Given the description of an element on the screen output the (x, y) to click on. 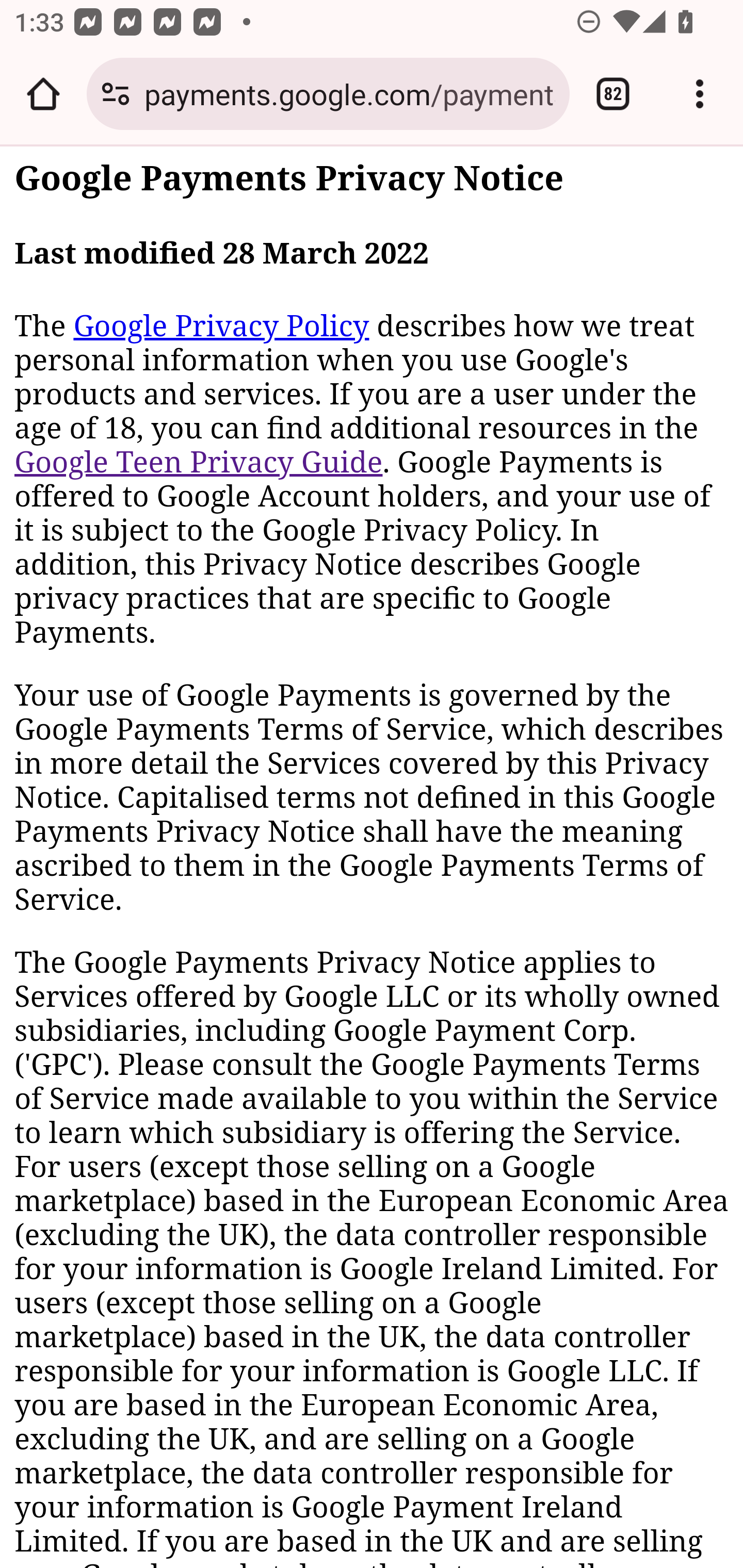
Open the home page (43, 93)
Connection is secure (115, 93)
Switch or close tabs (612, 93)
Customize and control Google Chrome (699, 93)
Google Privacy Policy (221, 326)
Google Teen Privacy Guide (199, 461)
